Given the description of an element on the screen output the (x, y) to click on. 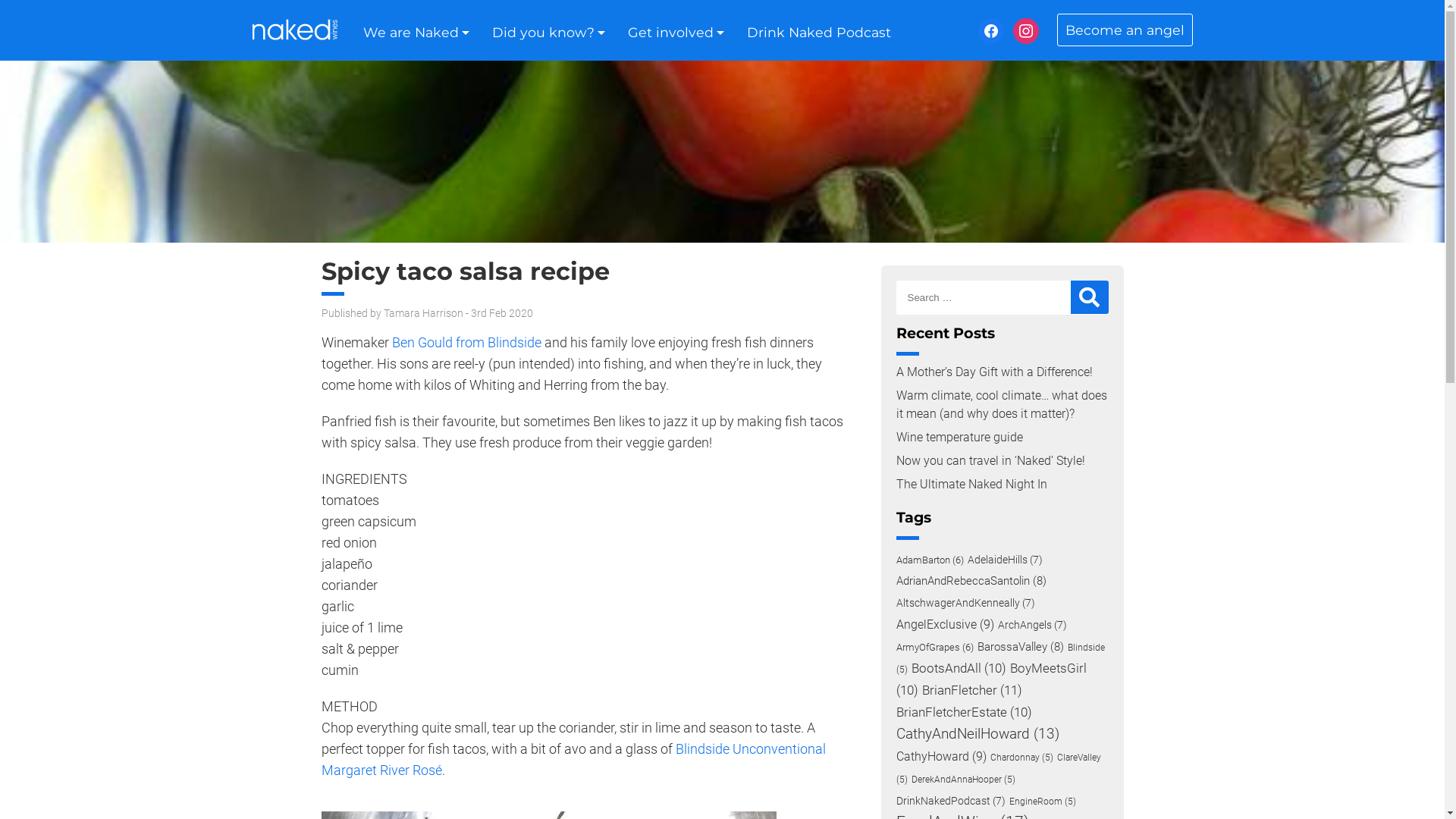
The Ultimate Naked Night In Element type: text (971, 483)
Blindside (5) Element type: text (1000, 658)
AltschwagerAndKenneally (7) Element type: text (965, 602)
BrianFletcherEstate (10) Element type: text (964, 712)
instagram Element type: text (1025, 29)
ClareValley (5) Element type: text (998, 768)
EngineRoom (5) Element type: text (1041, 801)
ArchAngels (7) Element type: text (1031, 624)
CathyAndNeilHoward (13) Element type: text (977, 733)
Search Element type: text (1089, 296)
Drink Naked Podcast Element type: text (818, 32)
ArmyOfGrapes (6) Element type: text (934, 646)
BoyMeetsGirl (10) Element type: text (991, 679)
AdelaideHills (7) Element type: text (1004, 559)
AdrianAndRebeccaSantolin (8) Element type: text (971, 580)
Become an angel Element type: text (1124, 29)
Wine temperature guide Element type: text (959, 436)
CathyHoward (9) Element type: text (941, 756)
Chardonnay (5) Element type: text (1021, 757)
AngelExclusive (9) Element type: text (945, 624)
We are Naked Element type: text (410, 32)
BarossaValley (8) Element type: text (1019, 646)
BrianFletcher (11) Element type: text (972, 689)
Ben Gould from Blindside Element type: text (465, 342)
DerekAndAnnaHooper (5) Element type: text (963, 779)
AdamBarton (6) Element type: text (929, 559)
BootsAndAll (10) Element type: text (958, 668)
DrinkNakedPodcast (7) Element type: text (950, 800)
Get involved Element type: text (670, 32)
facebook Element type: text (991, 29)
Did you know? Element type: text (542, 32)
